Given the description of an element on the screen output the (x, y) to click on. 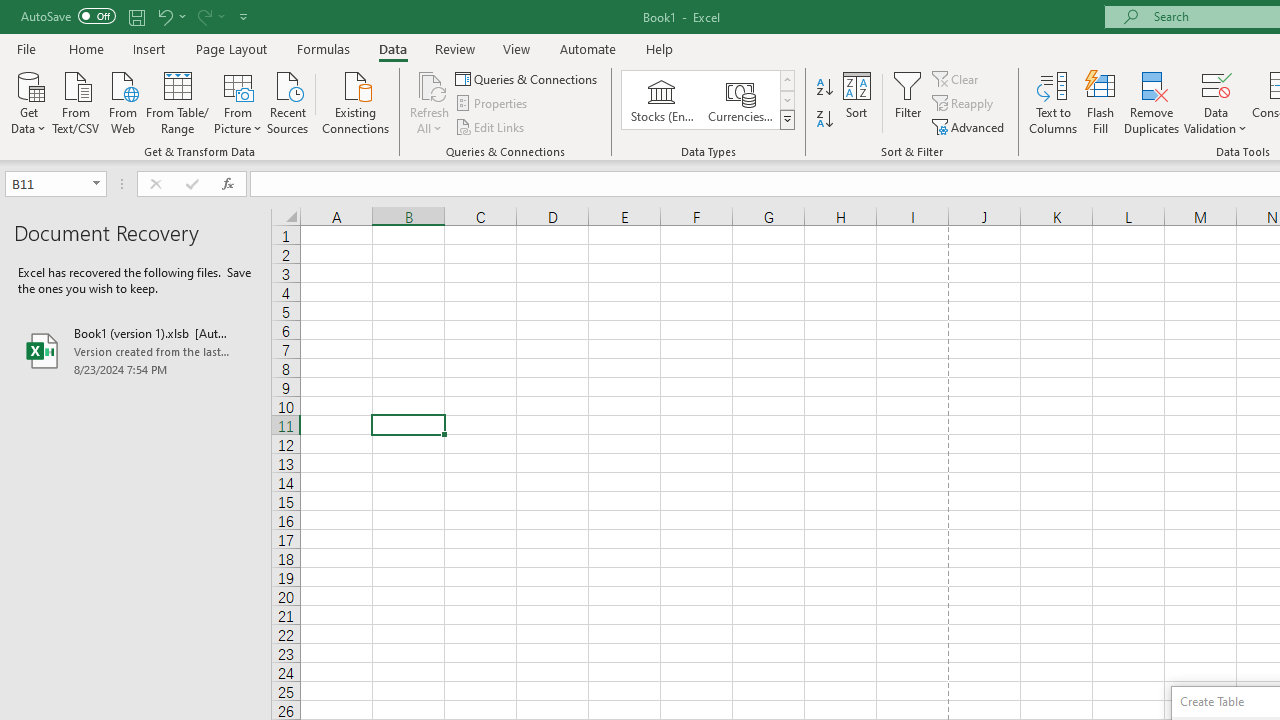
Edit Links (491, 126)
Remove Duplicates (1151, 102)
